Given the description of an element on the screen output the (x, y) to click on. 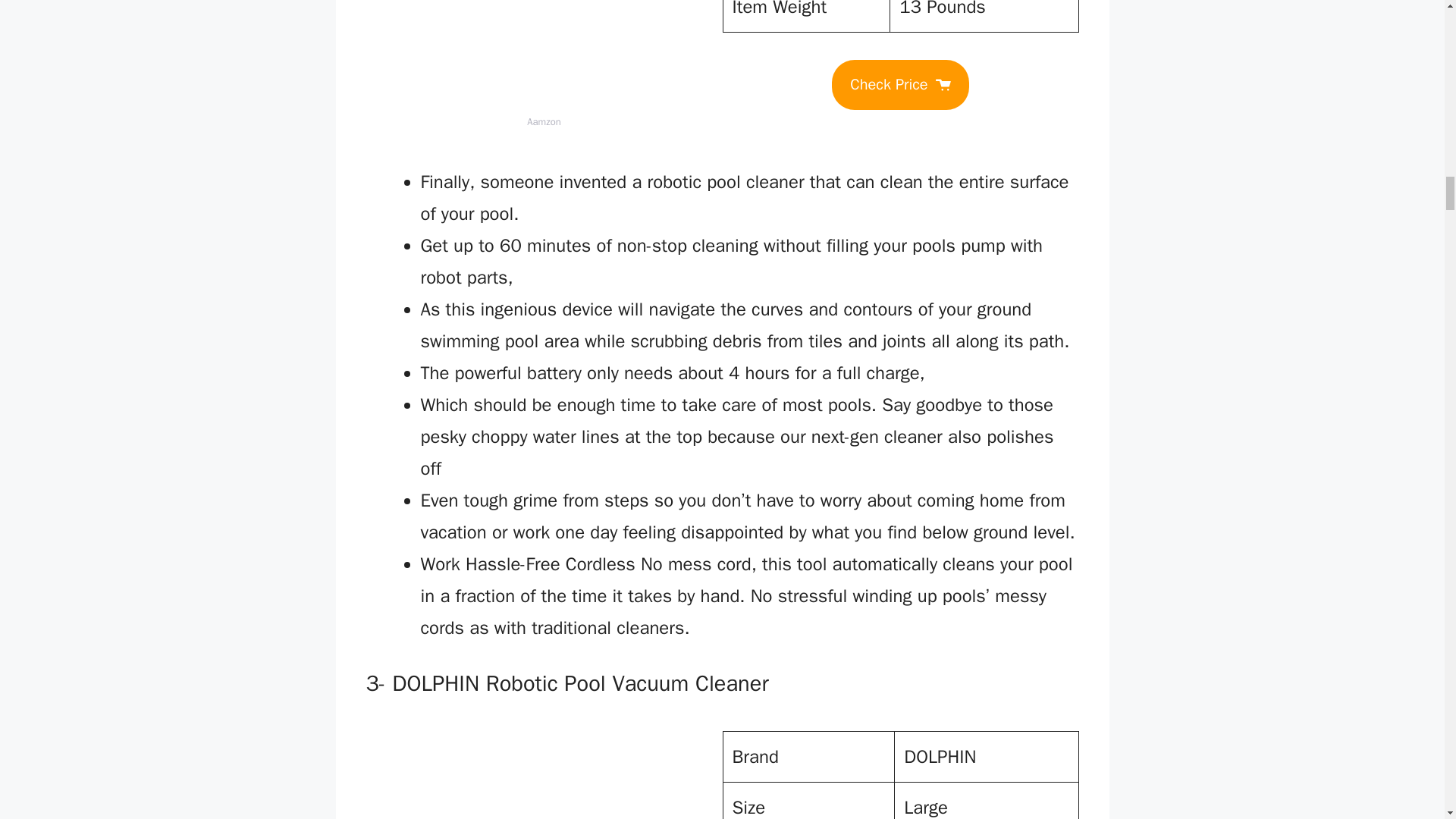
Check Price (899, 84)
